Given the description of an element on the screen output the (x, y) to click on. 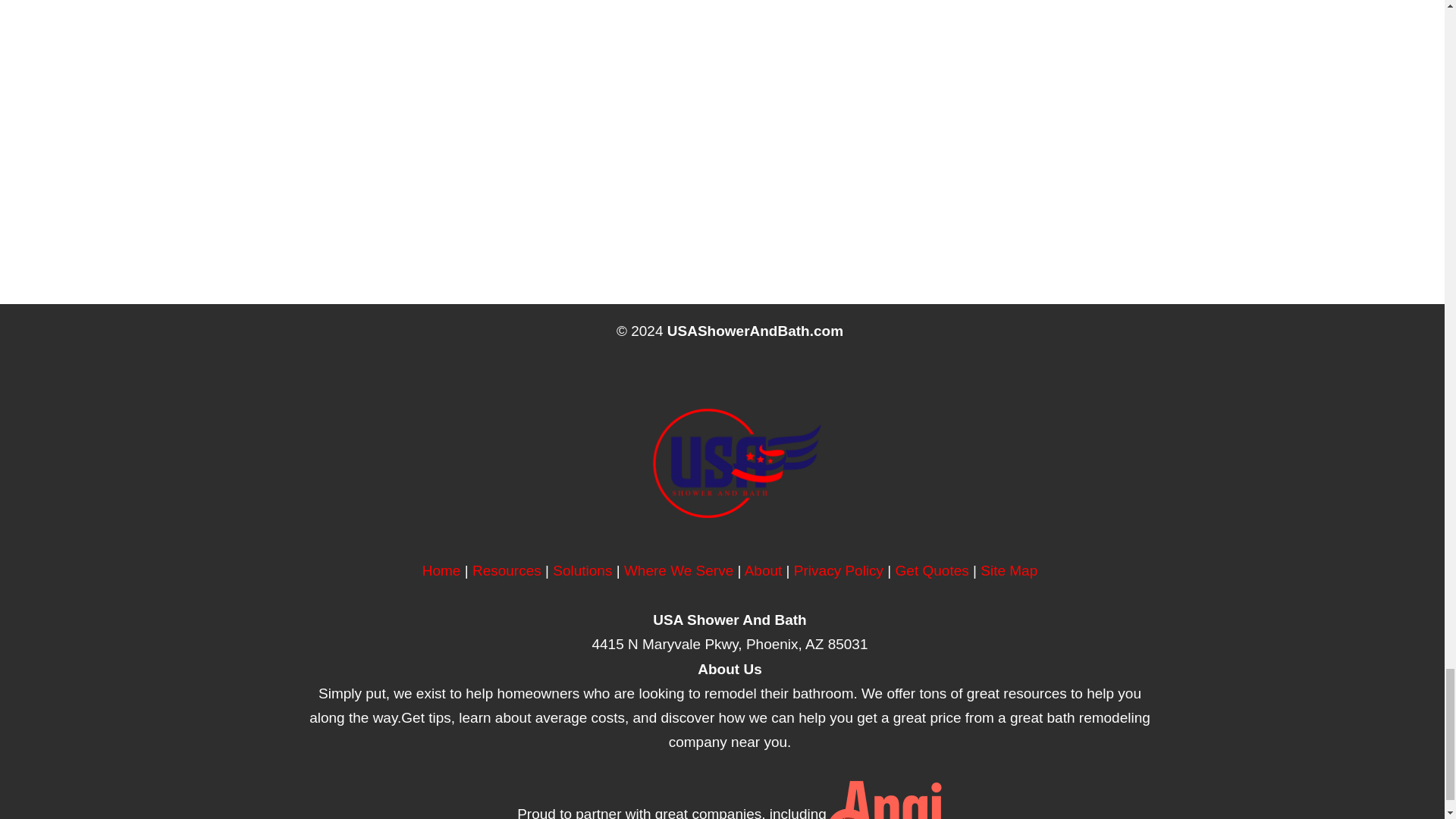
USA Shower And bath (441, 570)
Resources (506, 570)
Privacy Policy (838, 570)
About (763, 570)
Get Quotes (932, 570)
Where We Serve (678, 570)
Site Map (1007, 570)
Solutions (582, 570)
